Given the description of an element on the screen output the (x, y) to click on. 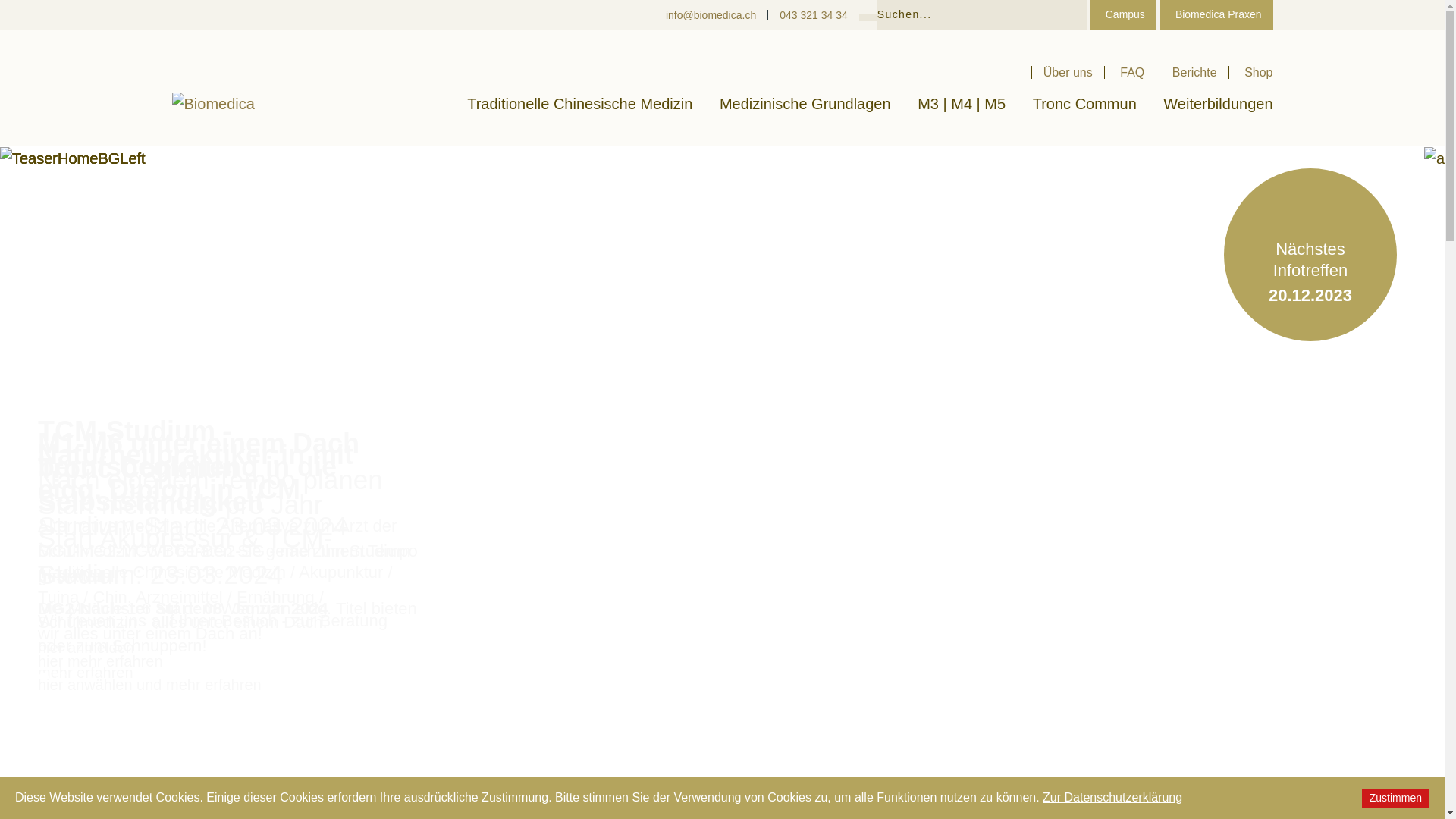
M3 | M4 | M5 Element type: text (961, 103)
Campus Element type: text (1123, 14)
Weiterbildungen Element type: text (1217, 103)
hier mehr erfahren Element type: text (100, 653)
mehr erfahren Element type: text (89, 665)
info@biomedica.ch Element type: text (716, 14)
Medizinische Grundlagen Element type: text (805, 103)
043 321 34 34 Element type: text (813, 15)
FAQ Element type: text (1132, 71)
Berichte Element type: text (1195, 71)
Traditionelle Chinesische Medizin Element type: text (579, 103)
Tronc Commun Element type: text (1084, 103)
Biomedica Praxen Element type: text (1216, 14)
hier anmelden Element type: text (85, 640)
Biomedica Element type: hover (212, 103)
Shop Element type: text (1252, 71)
